Given the description of an element on the screen output the (x, y) to click on. 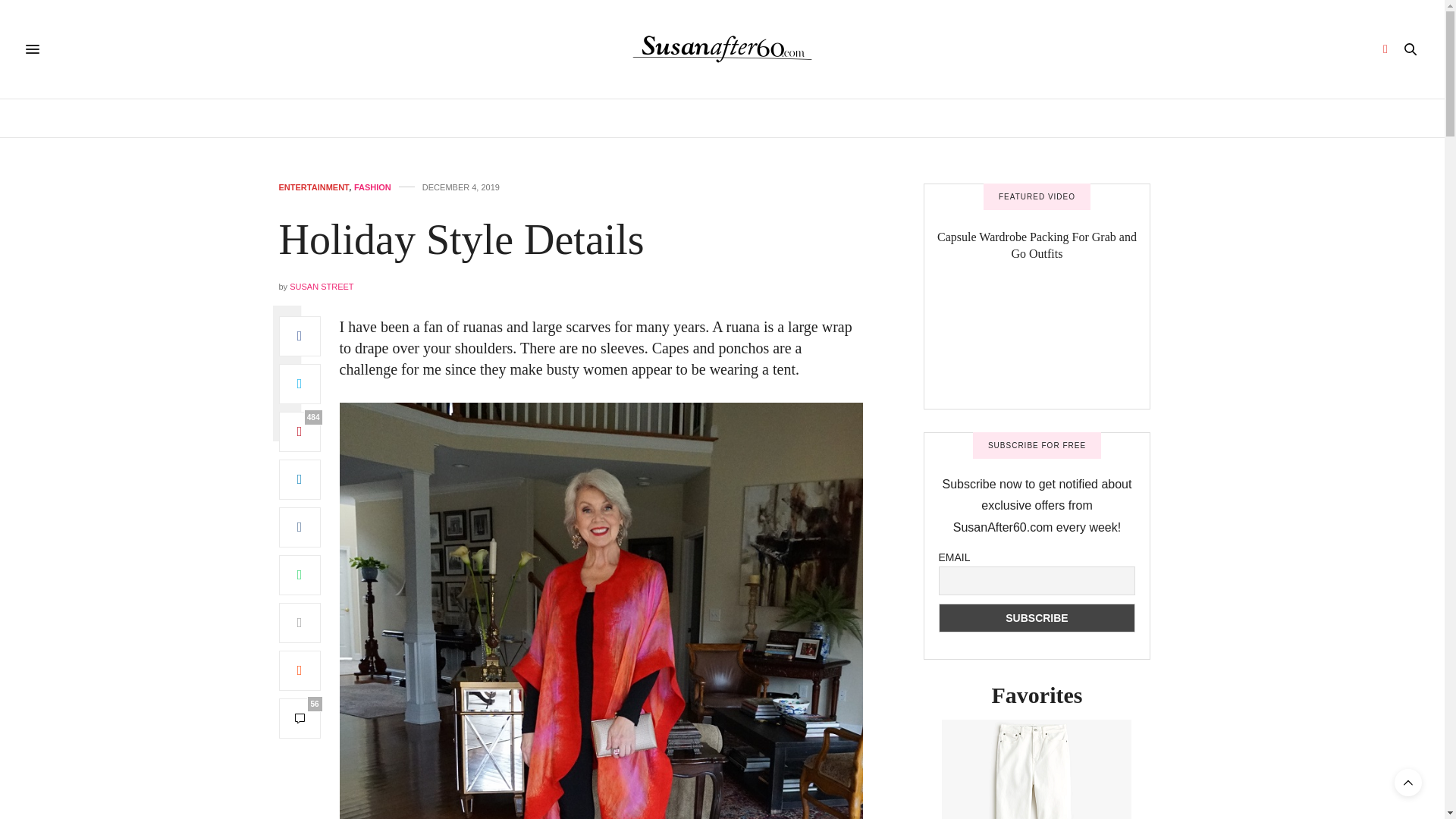
HEALTH (544, 118)
FASHION (372, 187)
SusanAfter60.com (721, 49)
Capsule Wardrobe Packing For Grab And Go Outfits (1036, 344)
OUTFITS (951, 118)
56 (299, 718)
484 (299, 431)
BEAUTY (662, 118)
ENTERTAINMENT (314, 187)
FASHION (834, 118)
